Given the description of an element on the screen output the (x, y) to click on. 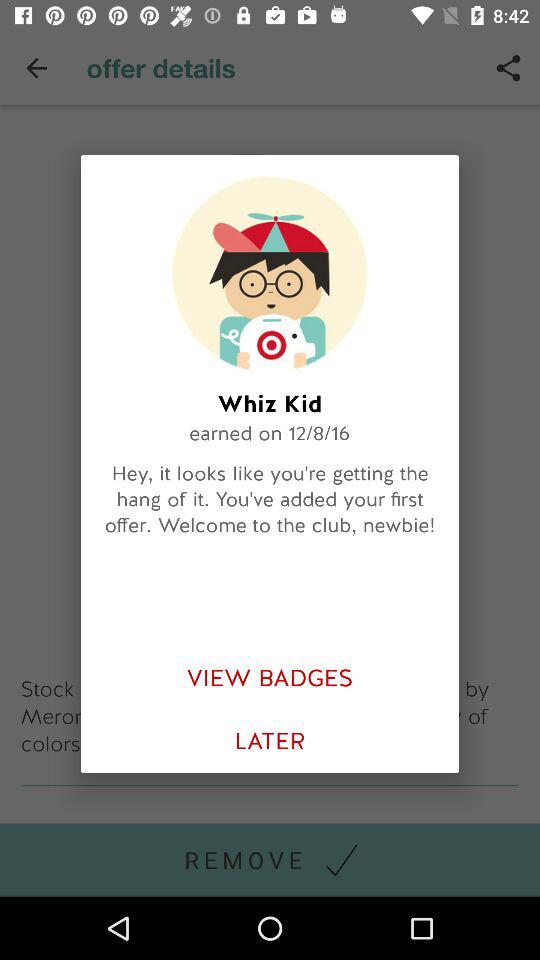
turn off item below the view badges icon (270, 741)
